Given the description of an element on the screen output the (x, y) to click on. 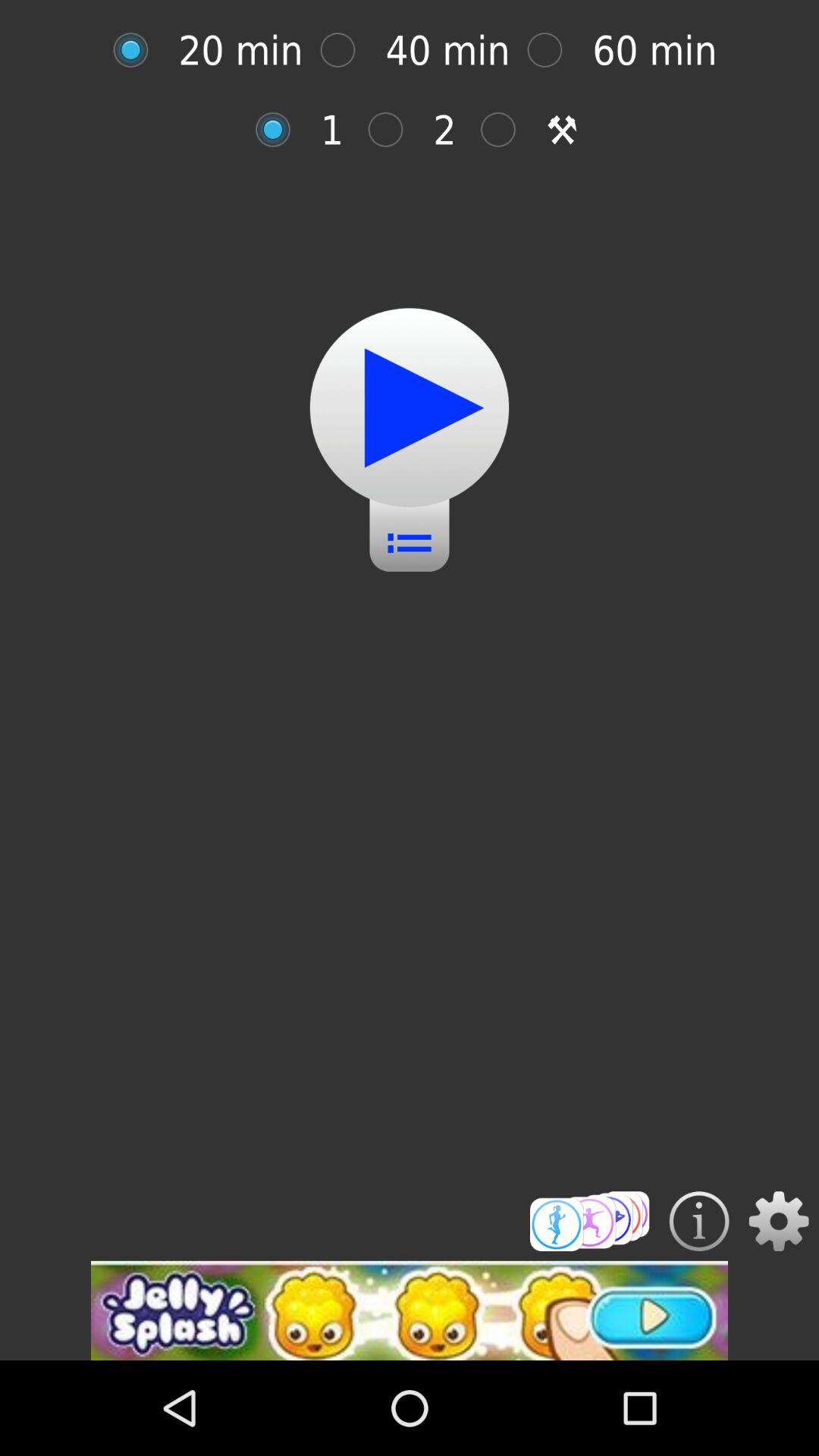
choose number one (280, 129)
